Given the description of an element on the screen output the (x, y) to click on. 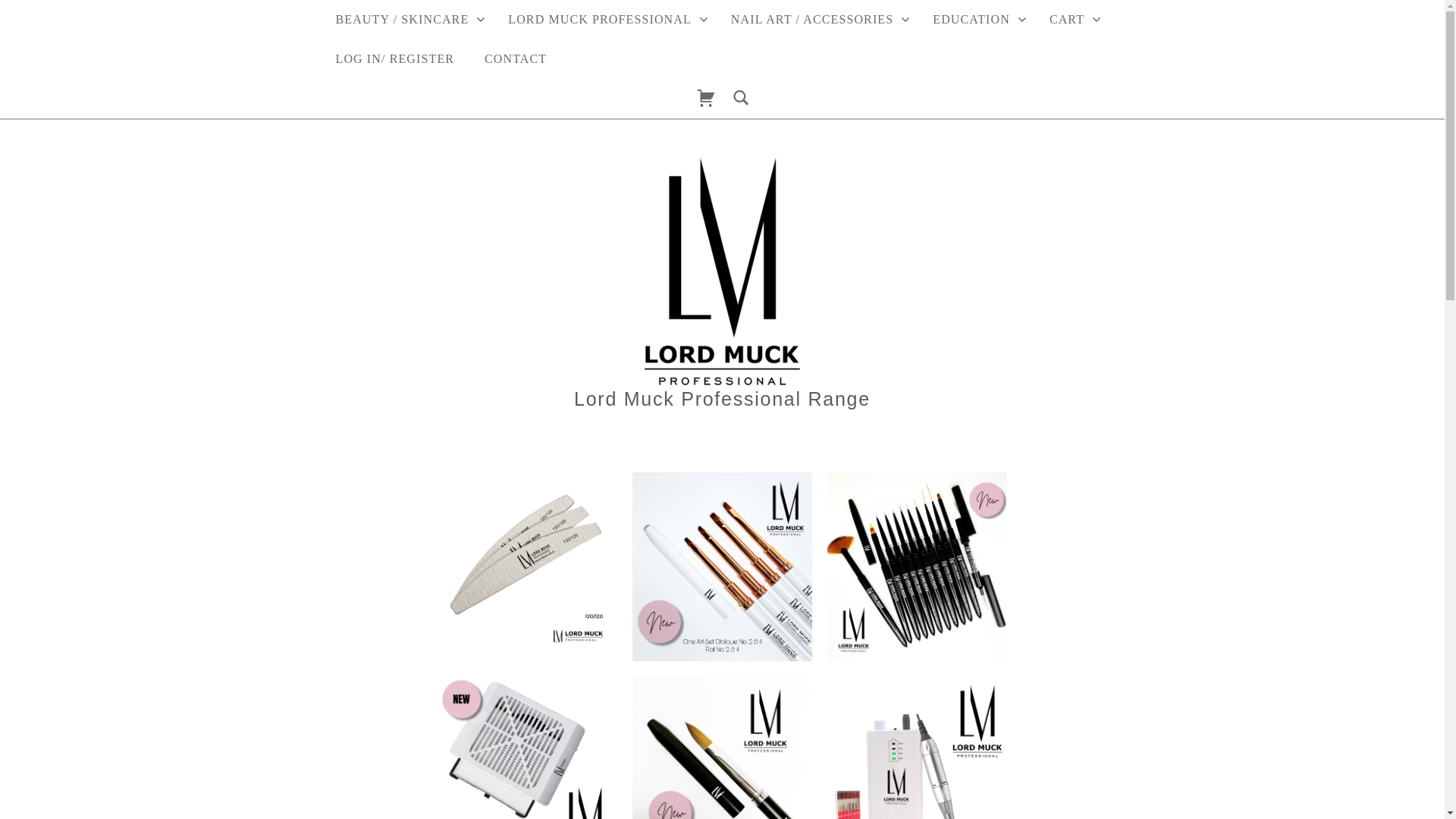
PORTABLE ELECTRIC FILE Element type: hover (917, 684)
NAIL FILES Element type: hover (527, 480)
ACRYLIC BRUSH Element type: hover (722, 684)
EDUCATION Element type: text (975, 19)
BEAUTY / SKINCARE Element type: text (406, 19)
NAIL ART / ACCESSORIES Element type: text (816, 19)
ONE ART BRUSH SET - ONE STROKE ART Element type: hover (722, 480)
CART Element type: text (1071, 19)
1. Prof Logo - black Element type: hover (721, 271)
DAWBER SERIES BRUSH SET Element type: hover (917, 480)
LOG IN/ REGISTER Element type: text (394, 58)
NAIL DUST EXTRACTOR Element type: hover (527, 684)
CONTACT Element type: text (515, 58)
LORD MUCK PROFESSIONAL Element type: text (603, 19)
LORD MUCK PROFESSIONAL Element type: text (556, 20)
